Given the description of an element on the screen output the (x, y) to click on. 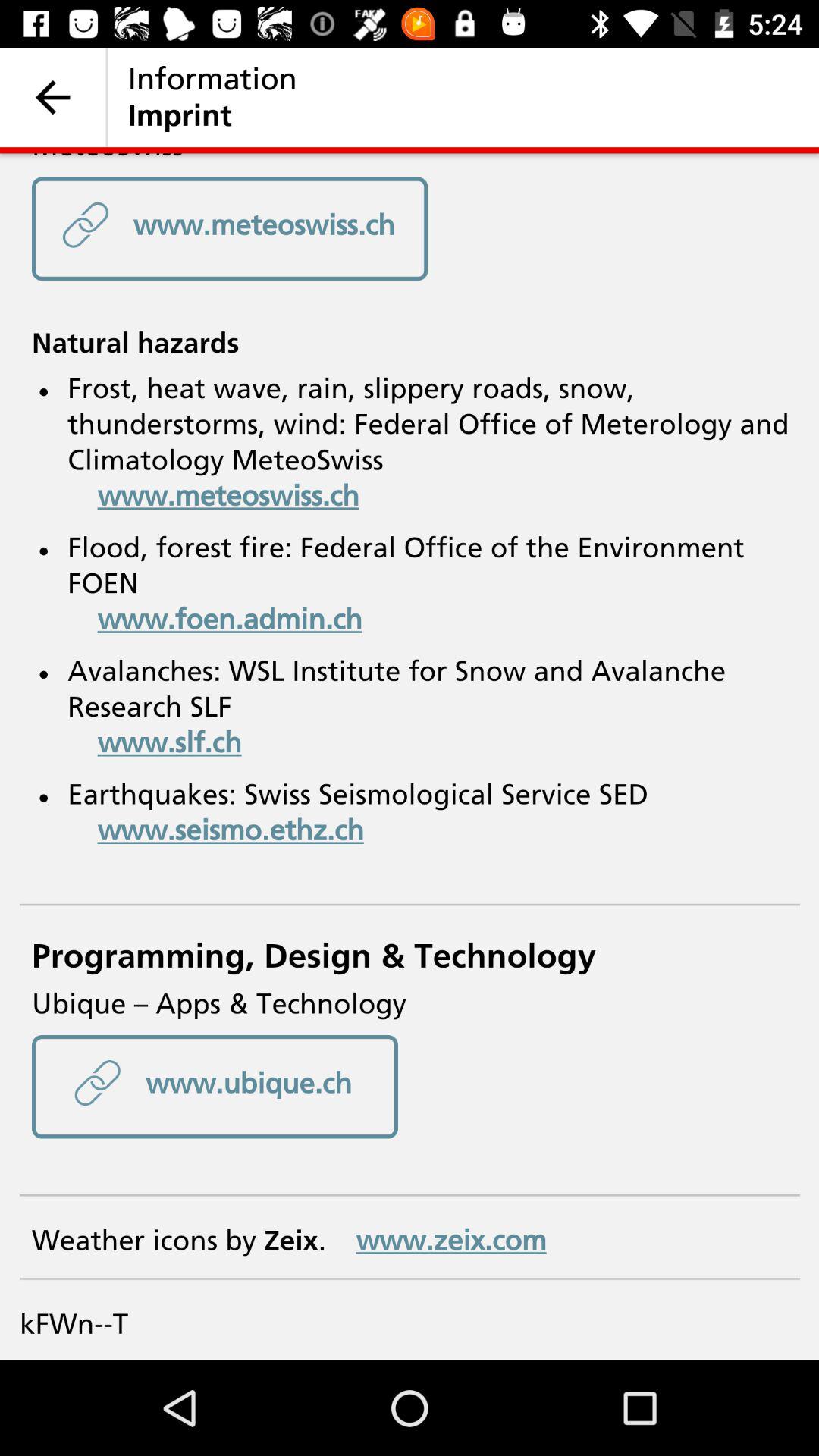
information page (409, 756)
